Given the description of an element on the screen output the (x, y) to click on. 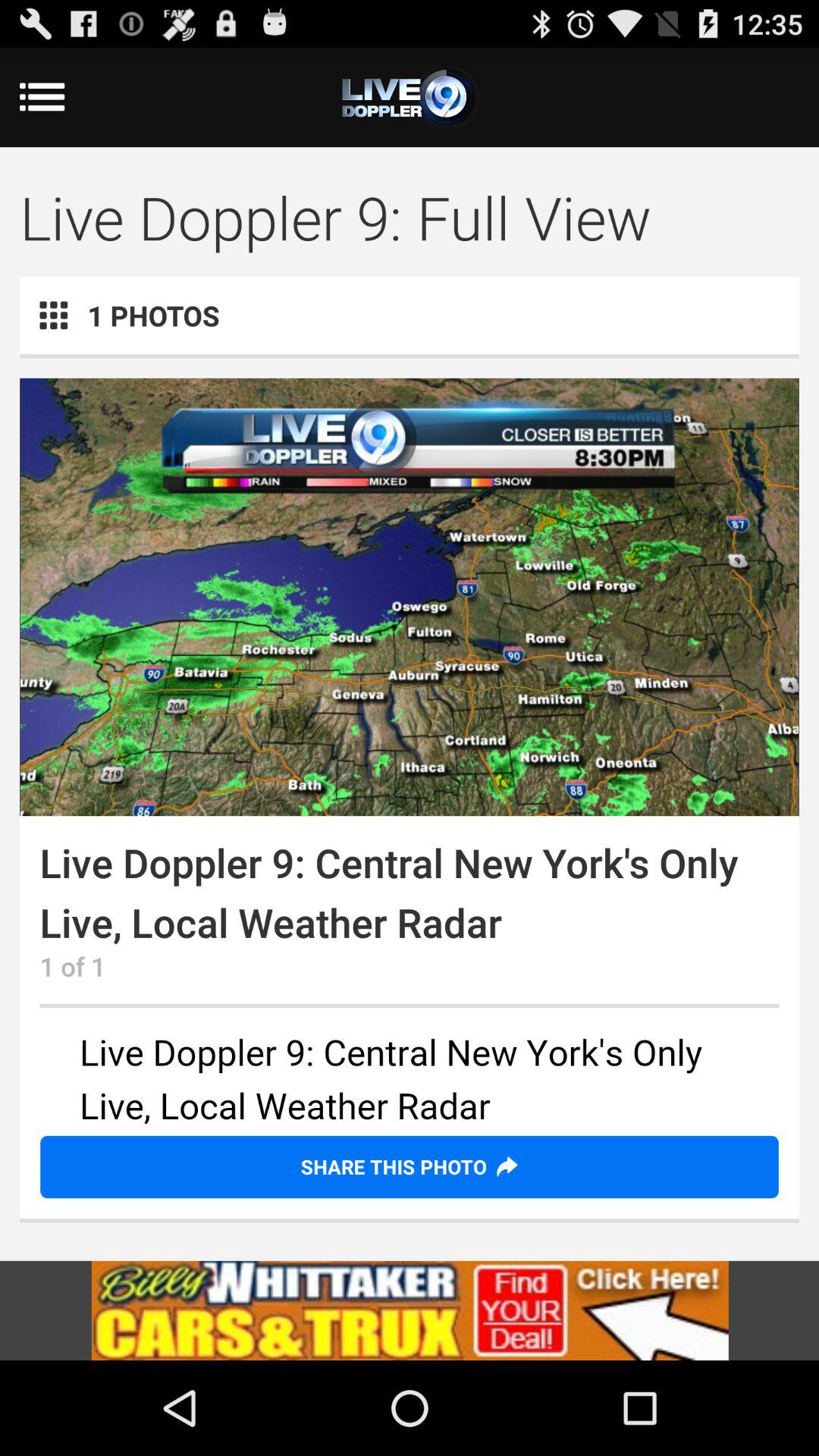
load advert (409, 1310)
